Given the description of an element on the screen output the (x, y) to click on. 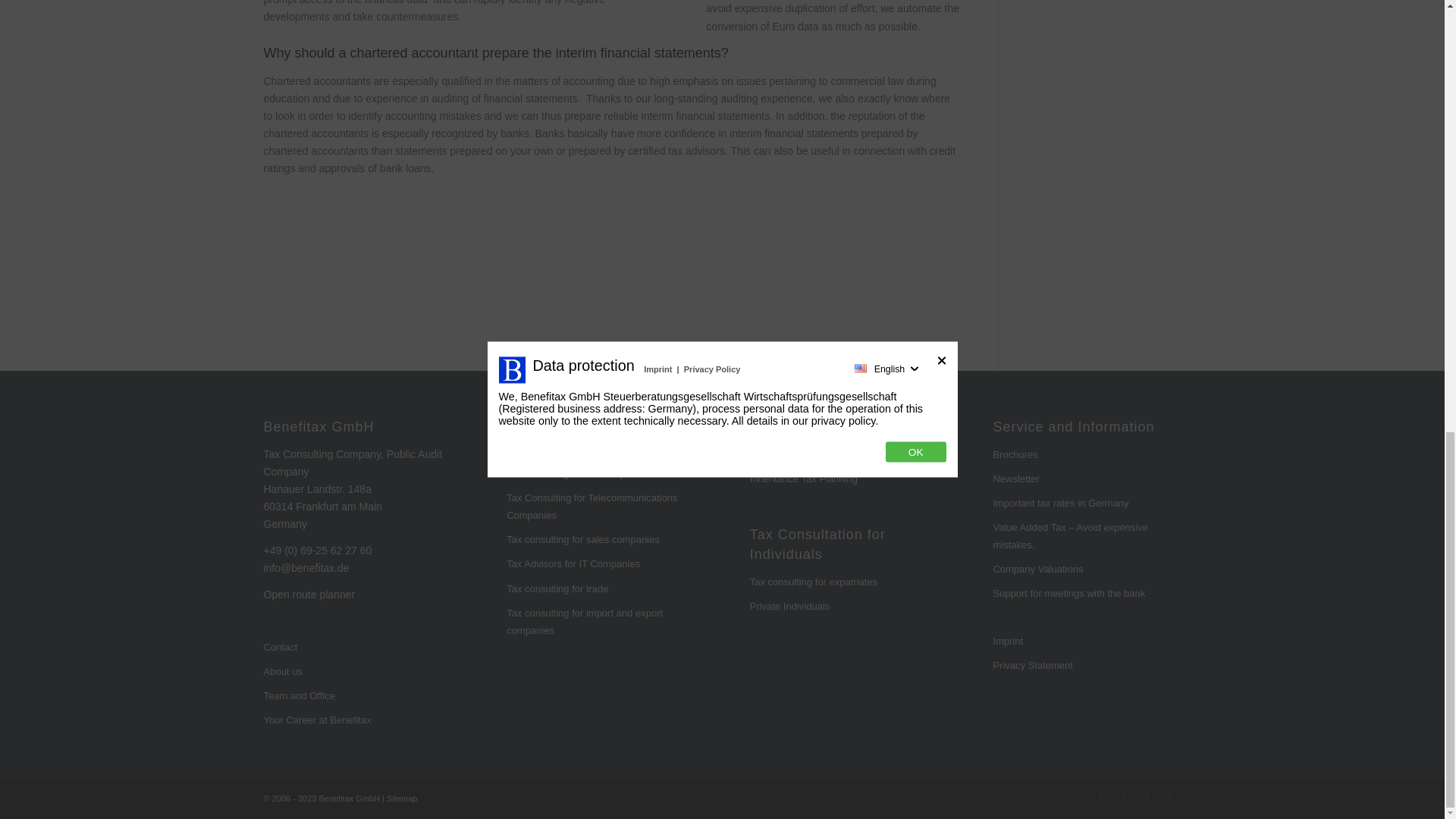
Youtube (1169, 797)
LinkedIn (1146, 797)
Facebook (1124, 797)
Instagram (1101, 797)
